Given the description of an element on the screen output the (x, y) to click on. 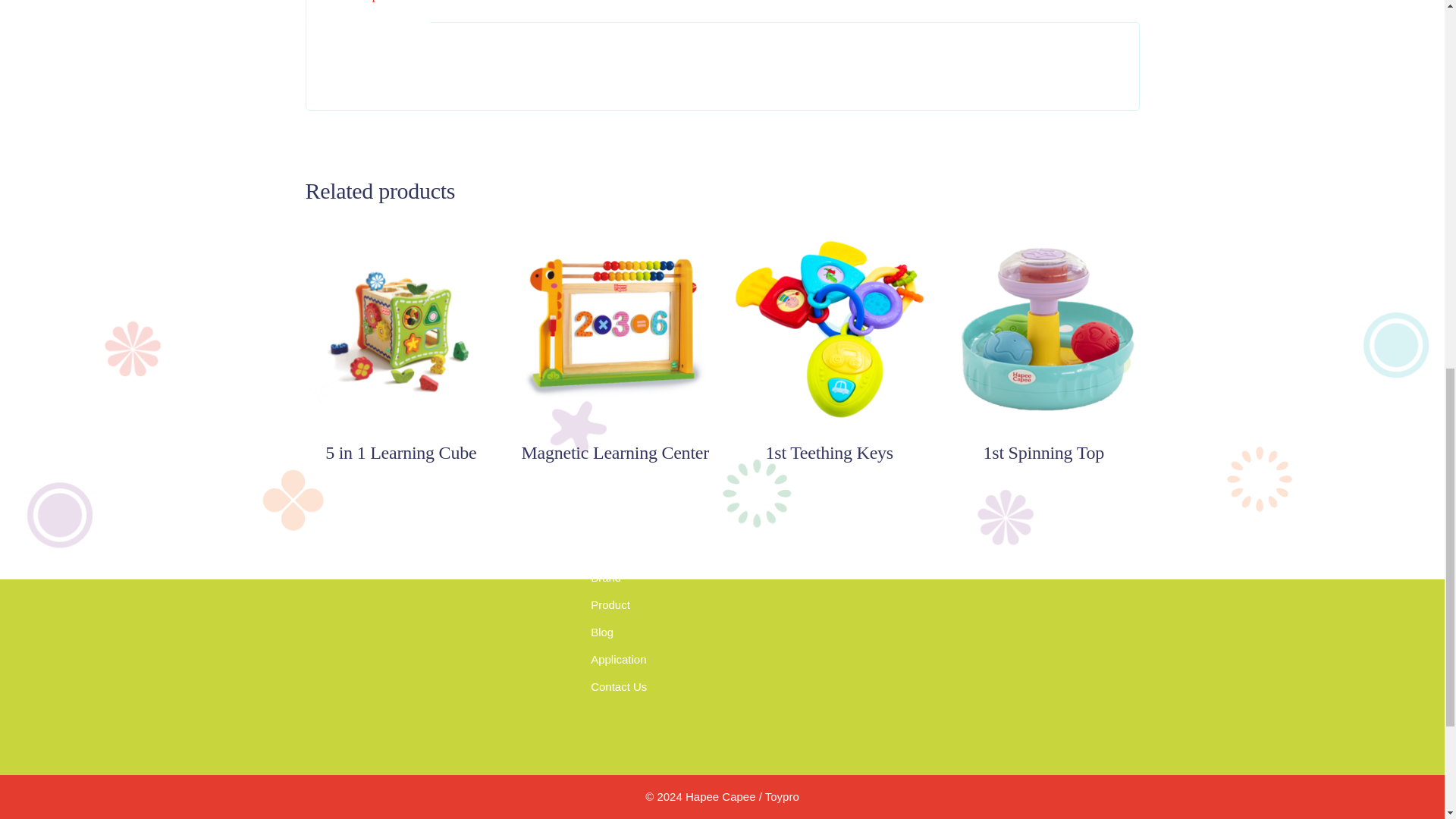
5 in 1 Learning Cube (400, 452)
1st Teething Keys (829, 452)
Magnetic Learning Center (615, 452)
Description (367, 10)
